Given the description of an element on the screen output the (x, y) to click on. 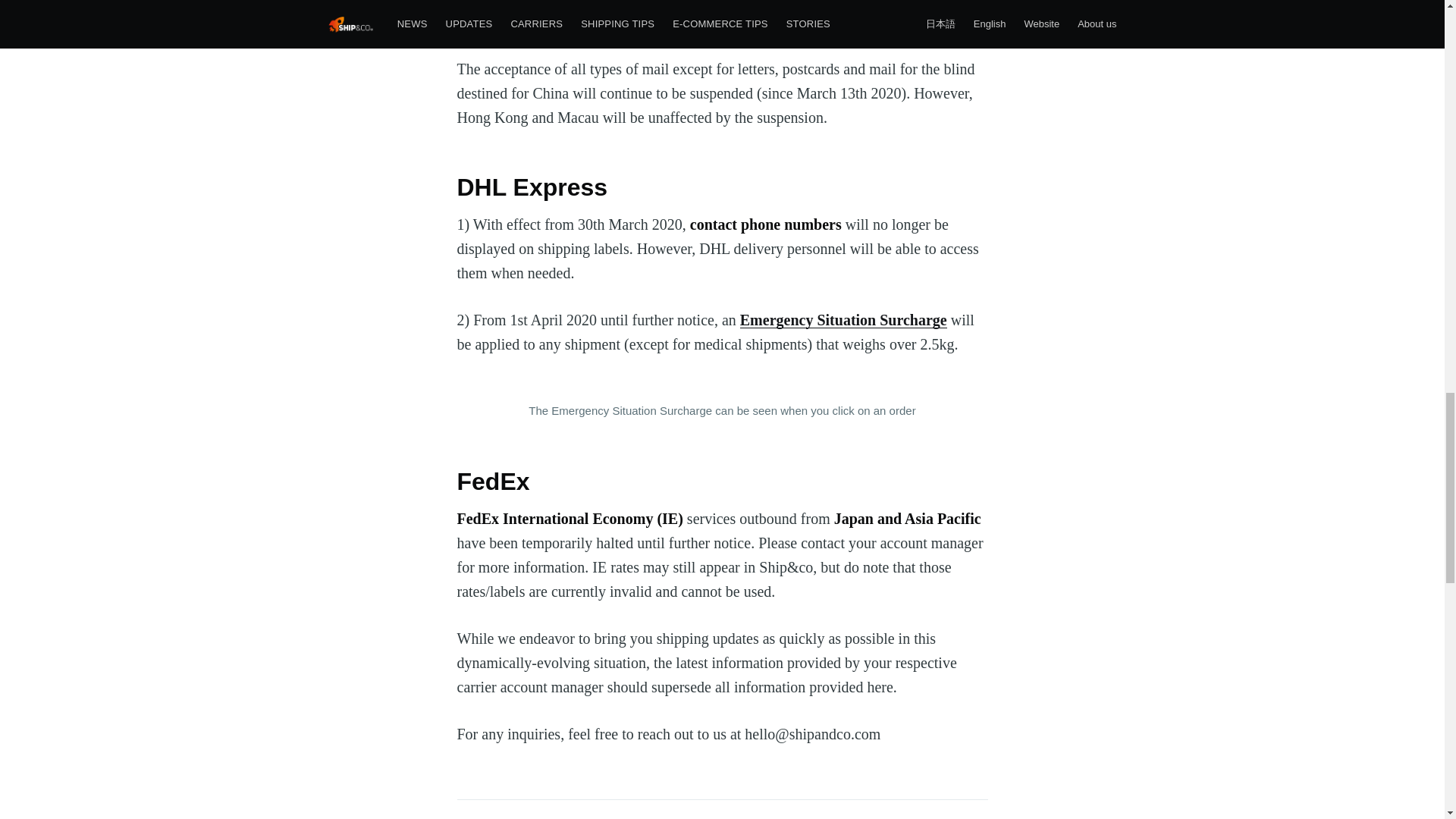
Emergency Situation Surcharge (843, 320)
